Given the description of an element on the screen output the (x, y) to click on. 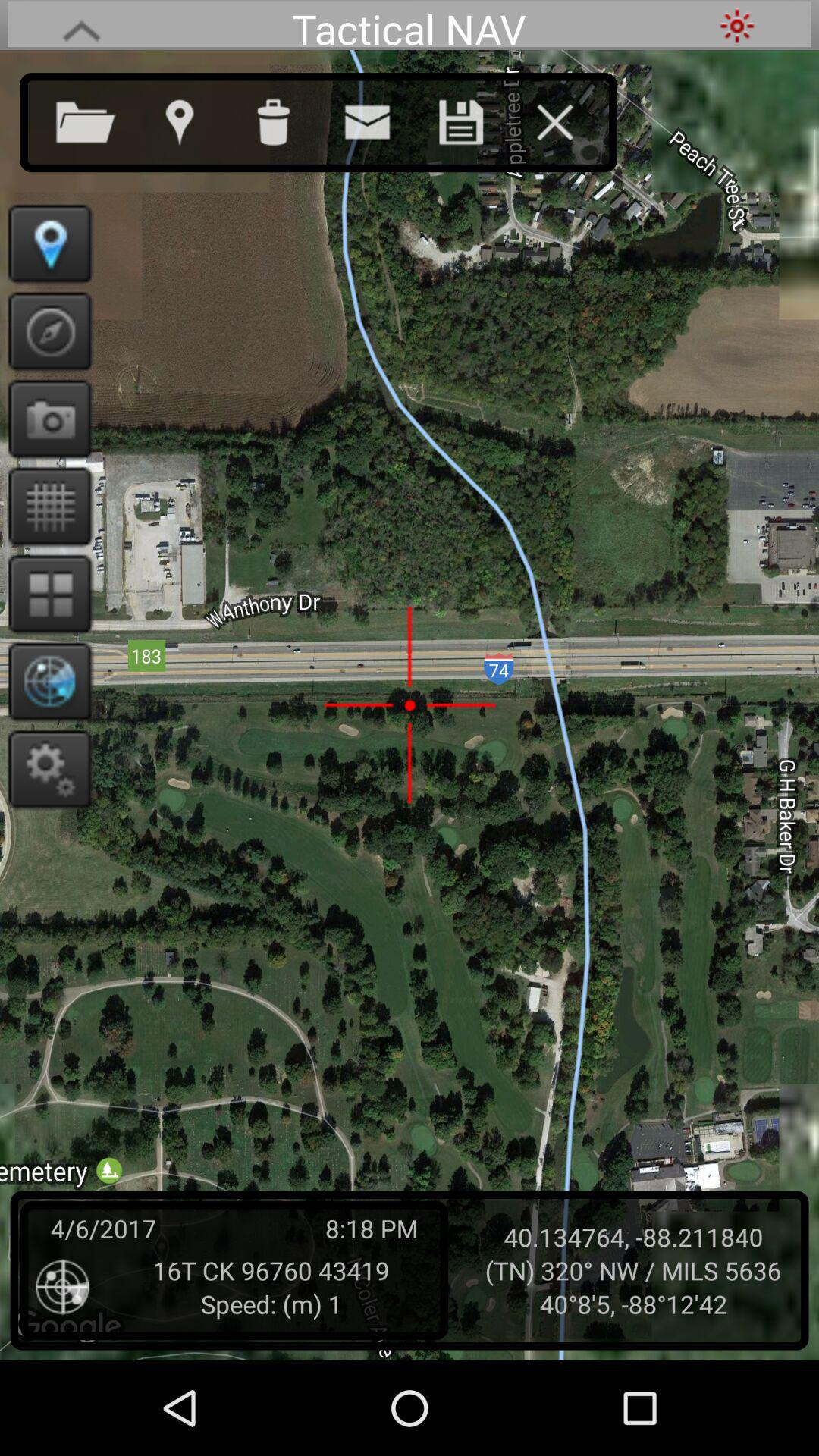
satellite view (45, 681)
